Given the description of an element on the screen output the (x, y) to click on. 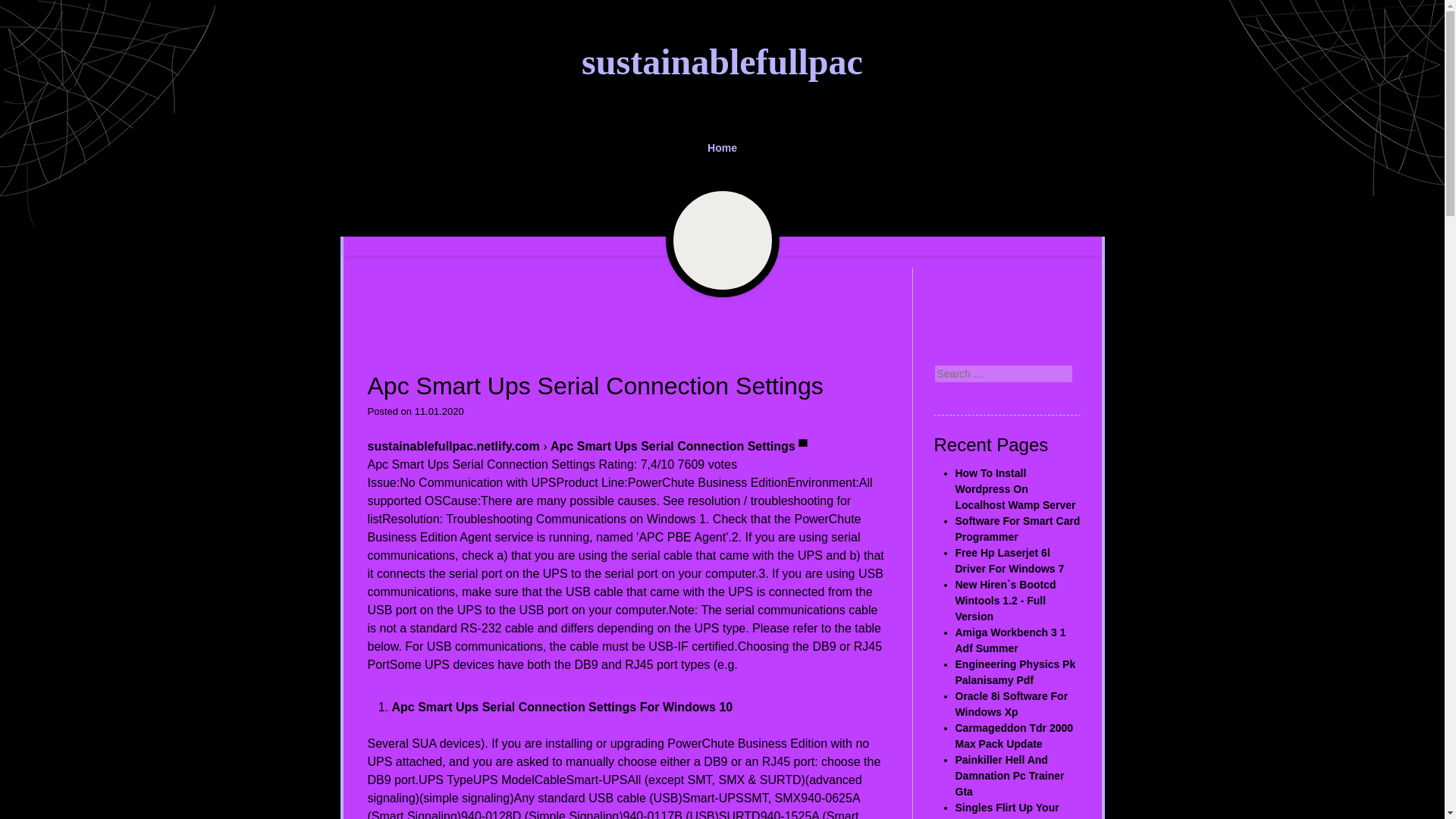
Software For Smart Card Programmer (1017, 528)
Oracle 8i Software For Windows Xp (1011, 704)
Engineering Physics Pk Palanisamy Pdf (1015, 672)
Amiga Workbench 3 1 Adf Summer (1010, 640)
Painkiller Hell And Damnation Pc Trainer Gta (1009, 775)
Carmageddon Tdr 2000 Max Pack Update (1014, 735)
sustainablefullpac.netlify.com (452, 445)
sustainablefullpac (721, 61)
How To Install Wordpress On Localhost Wamp Server (1015, 488)
Free Hp Laserjet 6l Driver For Windows 7 (1009, 560)
Home (722, 148)
Skip to content (350, 140)
Apc Smart Ups Serial Connection Settings For Windows 10 (561, 707)
Singles Flirt Up Your Life Windows 7 Patch (1009, 810)
Search (24, 9)
